Given the description of an element on the screen output the (x, y) to click on. 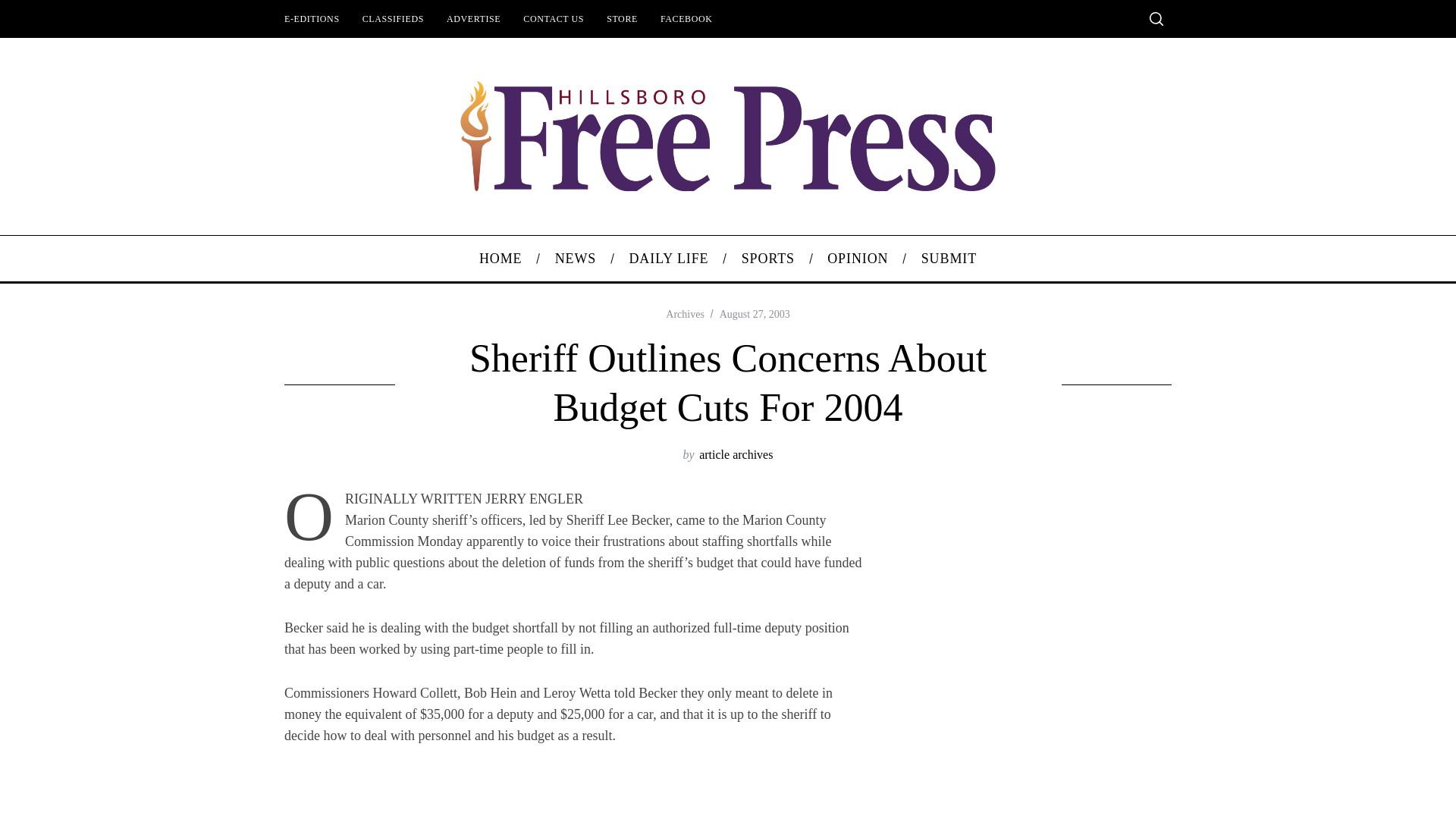
STORE (622, 18)
CLASSIFIEDS (392, 18)
ADVERTISE (473, 18)
OPINION (857, 258)
CONTACT US (553, 18)
SPORTS (767, 258)
DAILY LIFE (668, 258)
E-EDITIONS (311, 18)
FACEBOOK (686, 18)
